Given the description of an element on the screen output the (x, y) to click on. 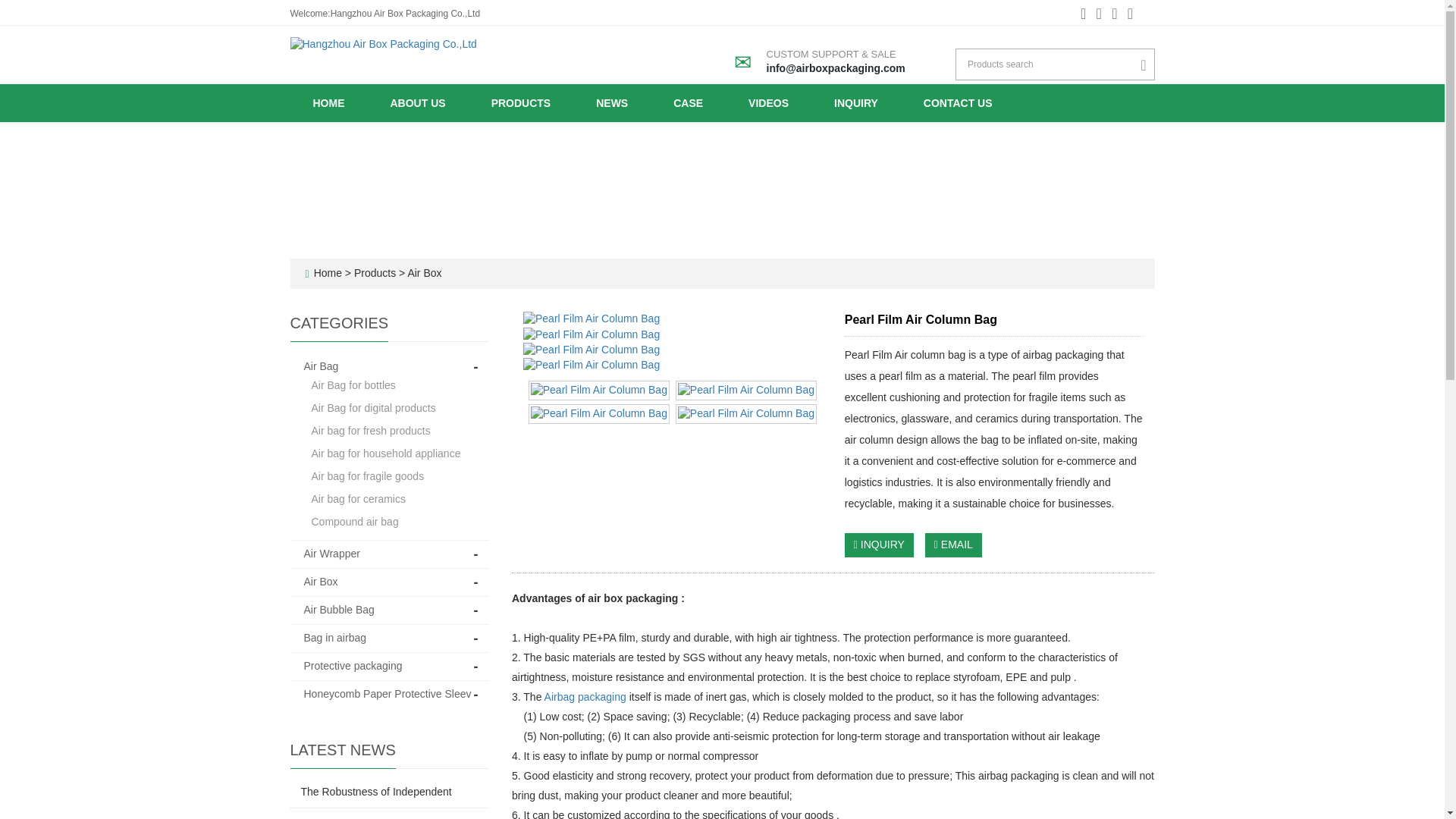
INQUIRY (855, 103)
VIDEOS (767, 103)
Products search (1146, 65)
HOME (327, 103)
Home (328, 272)
NEWS (611, 103)
Air Box (422, 272)
CASE (687, 103)
ABOUT US (416, 103)
Products (375, 272)
The Robustness of Independent Air Column Design (375, 791)
PRODUCTS (520, 103)
CONTACT US (957, 103)
